Given the description of an element on the screen output the (x, y) to click on. 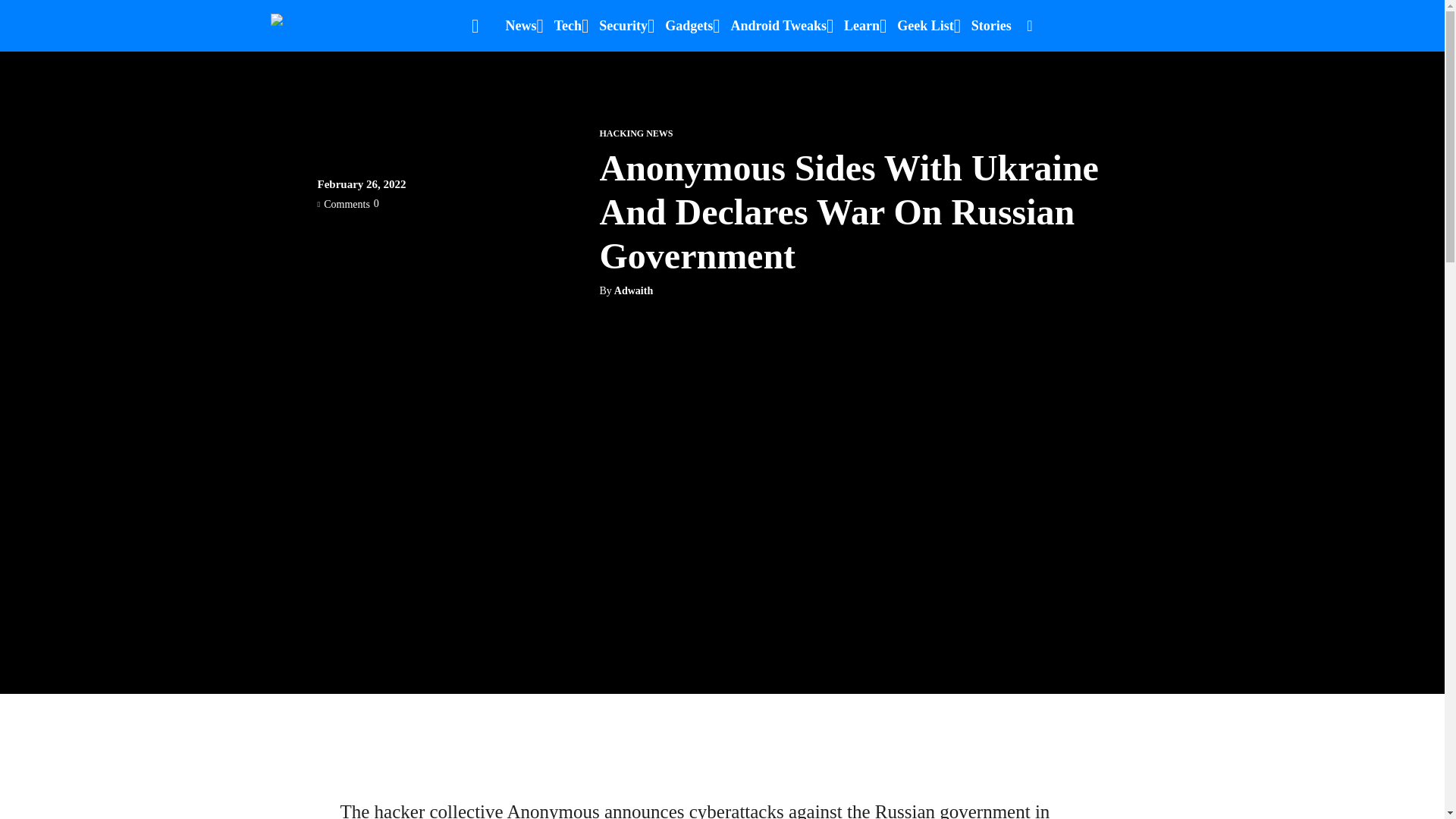
HACKING NEWS (635, 132)
Android Tweaks (778, 25)
Gadgets (689, 25)
Geek List (924, 25)
Security (622, 25)
Stories (991, 25)
Adwaith (633, 291)
Comments0 (347, 203)
Learn (861, 25)
